Given the description of an element on the screen output the (x, y) to click on. 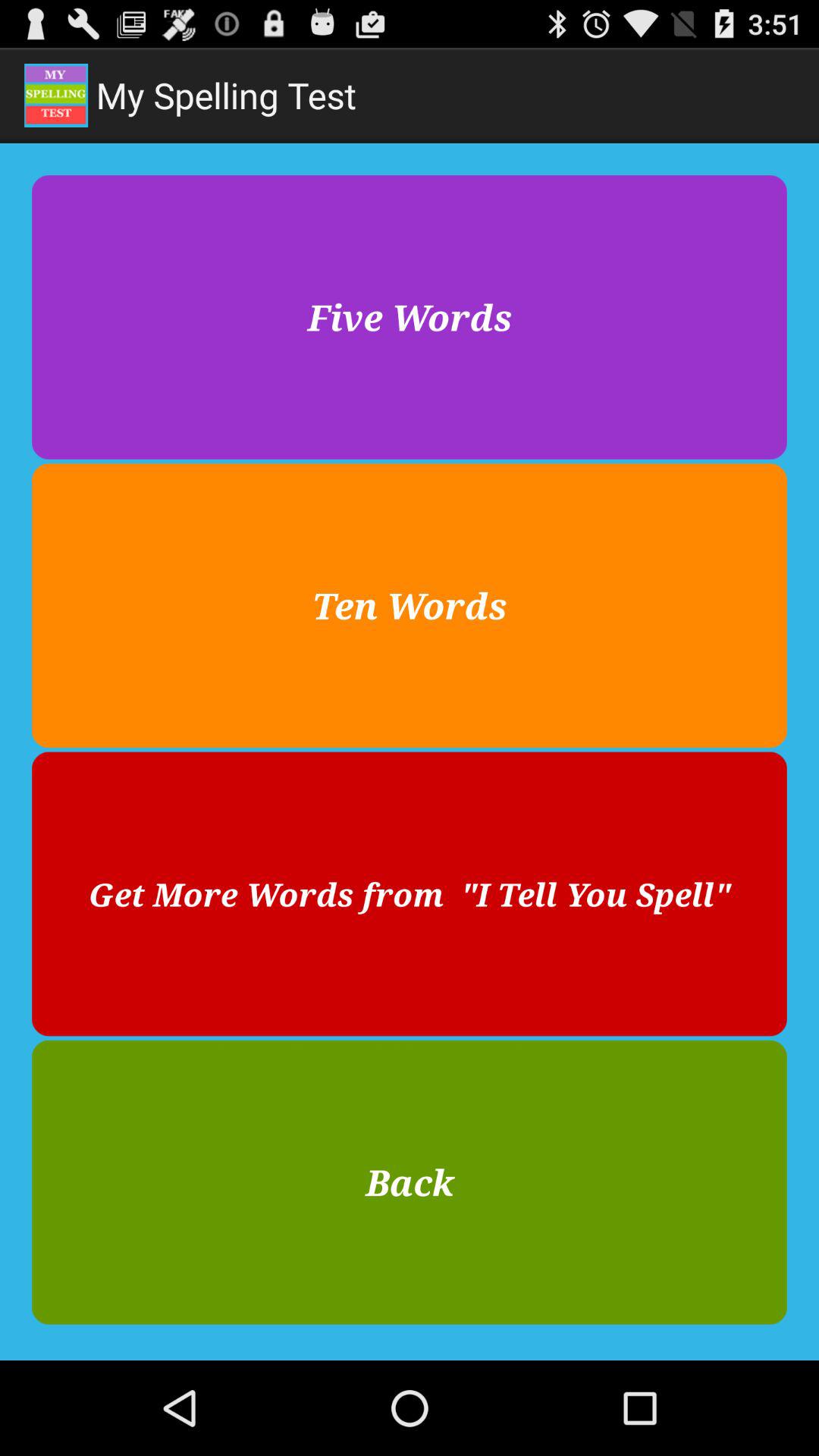
launch the item below the ten words icon (409, 893)
